Given the description of an element on the screen output the (x, y) to click on. 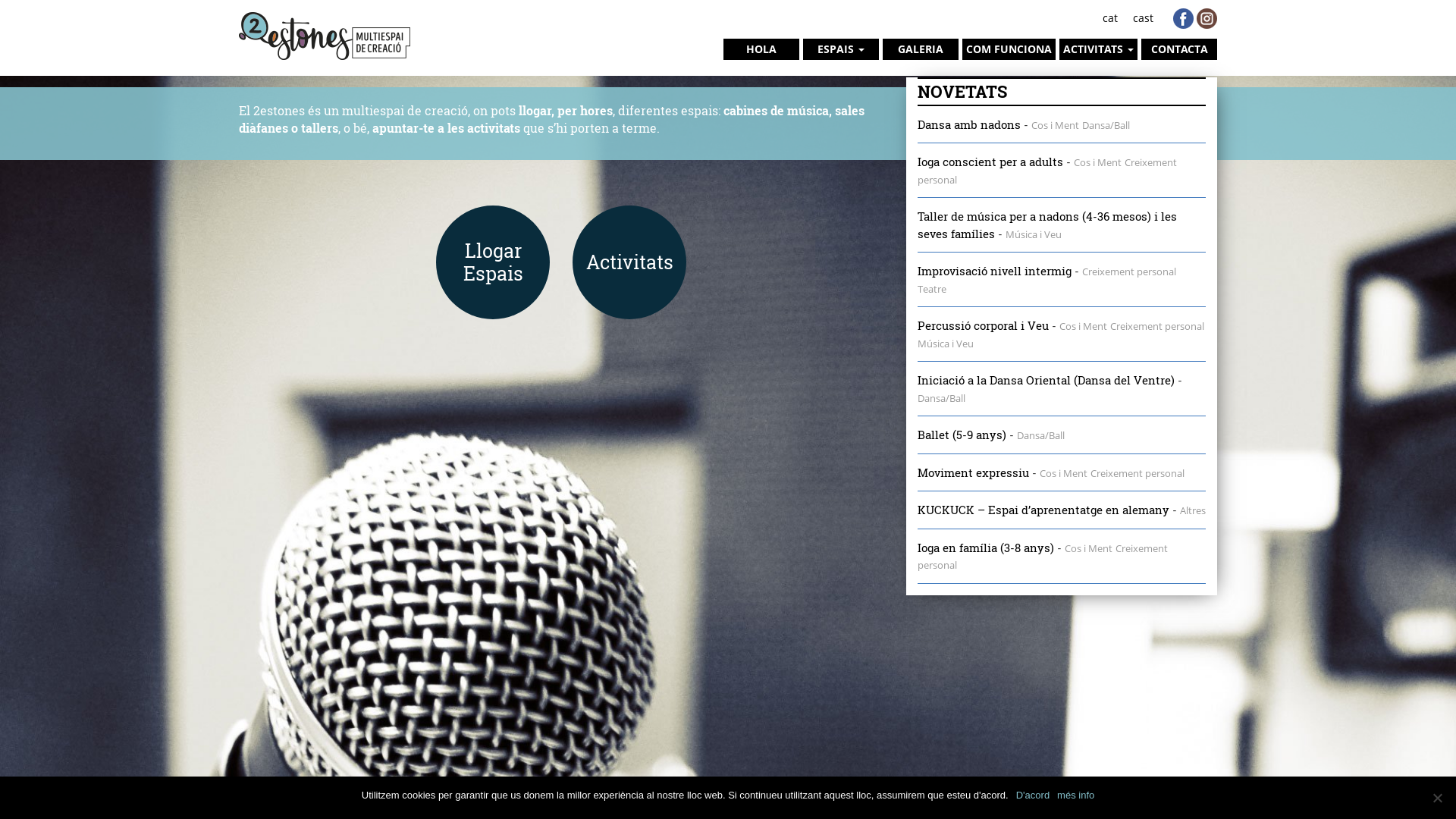
Altres Element type: text (1192, 510)
Creixement personal Element type: text (1046, 170)
Moviment expressiu Element type: text (973, 472)
Cos i Ment Element type: text (1097, 162)
cat Element type: text (1110, 18)
Dansa/Ball Element type: text (941, 397)
Teatre Element type: text (931, 288)
Cos i Ment Element type: text (1055, 124)
cast Element type: text (1143, 18)
Cos i Ment Element type: text (1088, 548)
Dansa amb nadons Element type: text (968, 123)
Creixement personal Element type: text (1157, 325)
Dansa/Ball Element type: text (1105, 124)
Creixement personal Element type: text (1129, 271)
Creixement personal Element type: text (1137, 473)
Ballet (5-9 anys) Element type: text (961, 434)
CONTACTA Element type: text (1179, 48)
D'acord Element type: text (1032, 795)
Ioga conscient per a adults Element type: text (990, 161)
COM FUNCIONA Element type: text (1008, 48)
ACTIVITATS Element type: text (1098, 48)
Cos i Ment Element type: text (1063, 473)
Cos i Ment Element type: text (1083, 325)
ESPAIS Element type: text (840, 48)
Dansa/Ball Element type: text (1040, 435)
GALERIA Element type: text (920, 48)
HOLA Element type: text (761, 48)
No Element type: hover (1436, 797)
Creixement personal Element type: text (1042, 556)
